Given the description of an element on the screen output the (x, y) to click on. 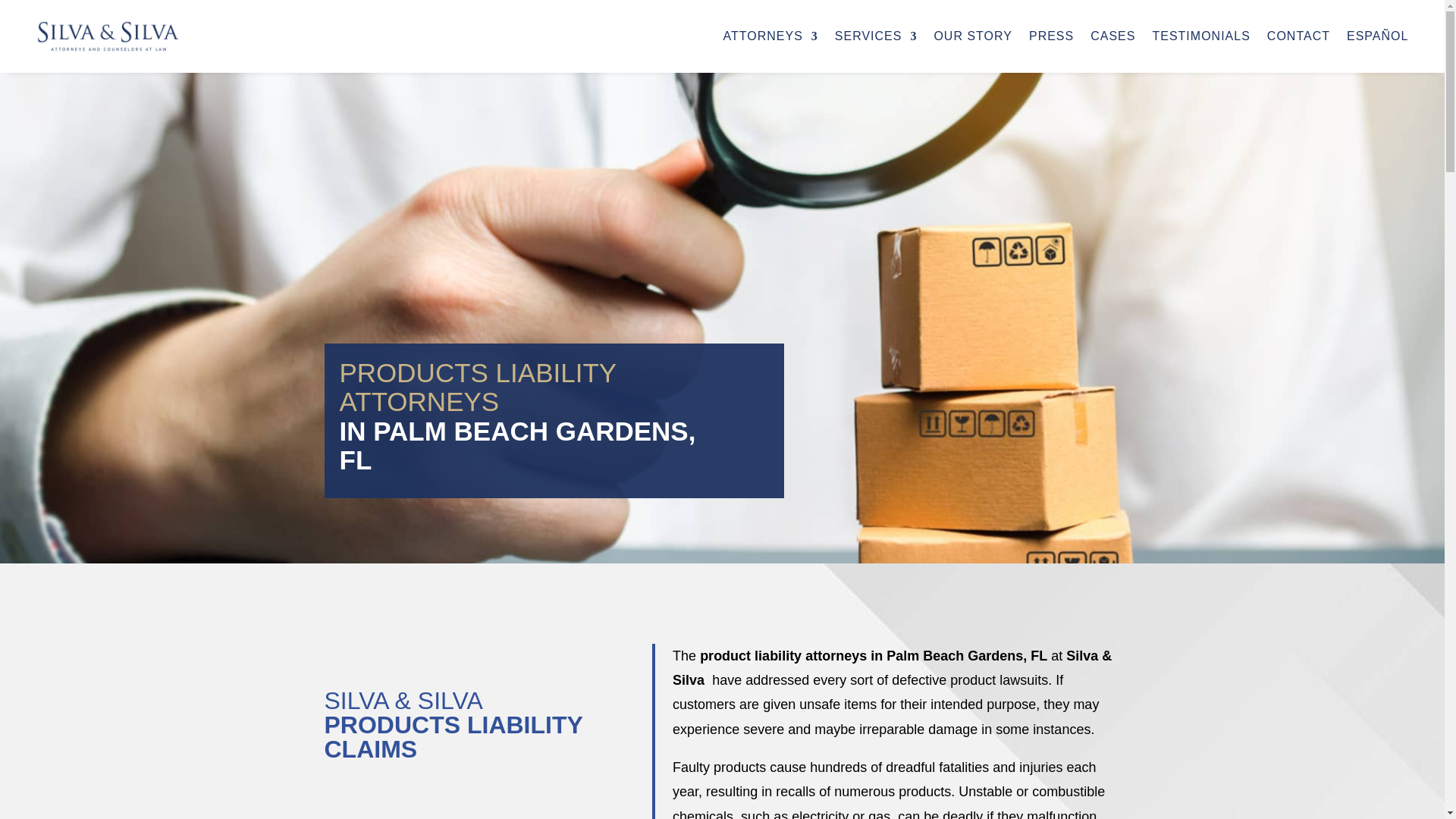
SERVICES (875, 36)
OUR STORY (972, 36)
ATTORNEYS (769, 36)
TESTIMONIALS (1200, 36)
CONTACT (1298, 36)
